Given the description of an element on the screen output the (x, y) to click on. 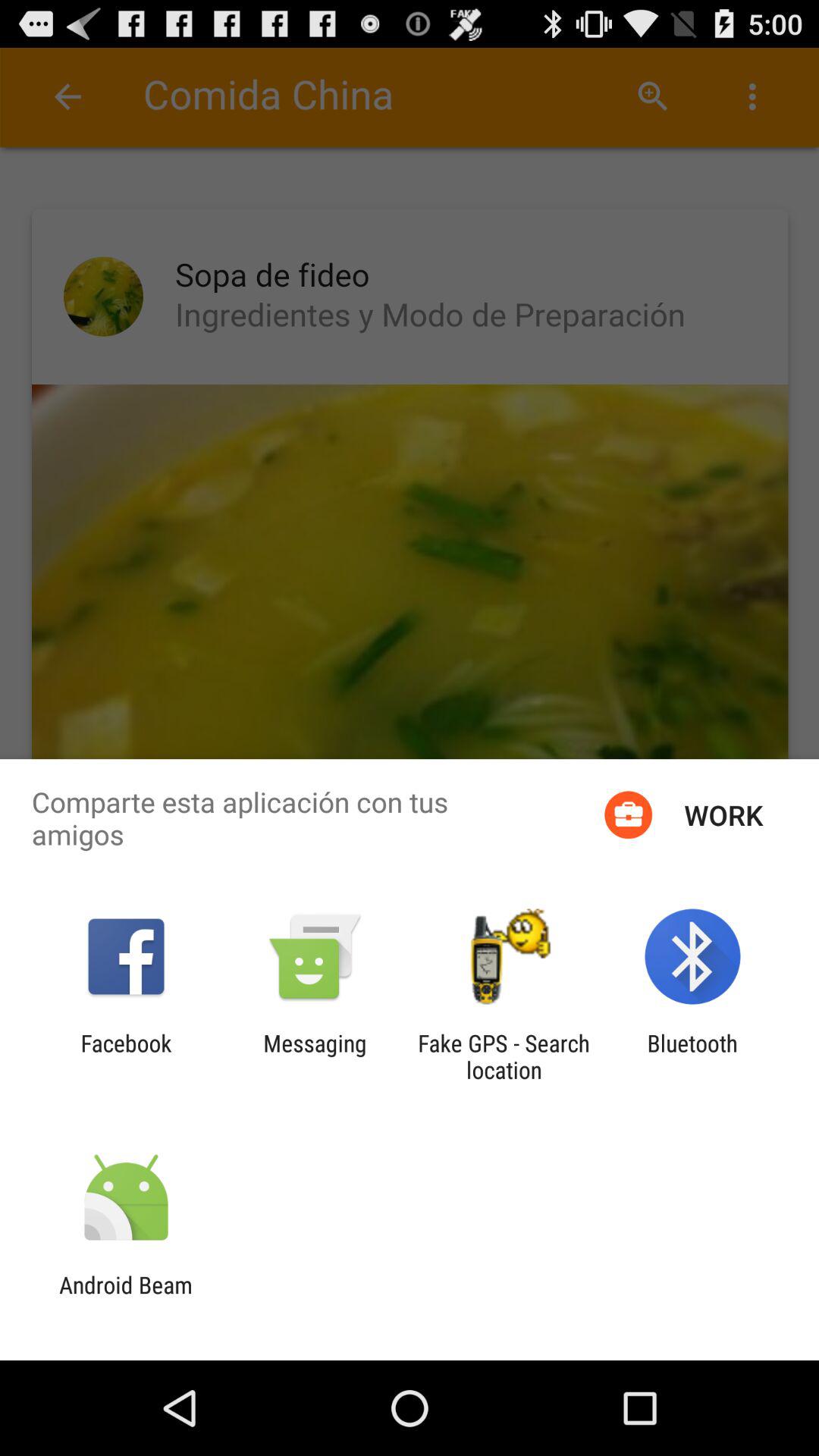
click app next to the messaging item (503, 1056)
